Given the description of an element on the screen output the (x, y) to click on. 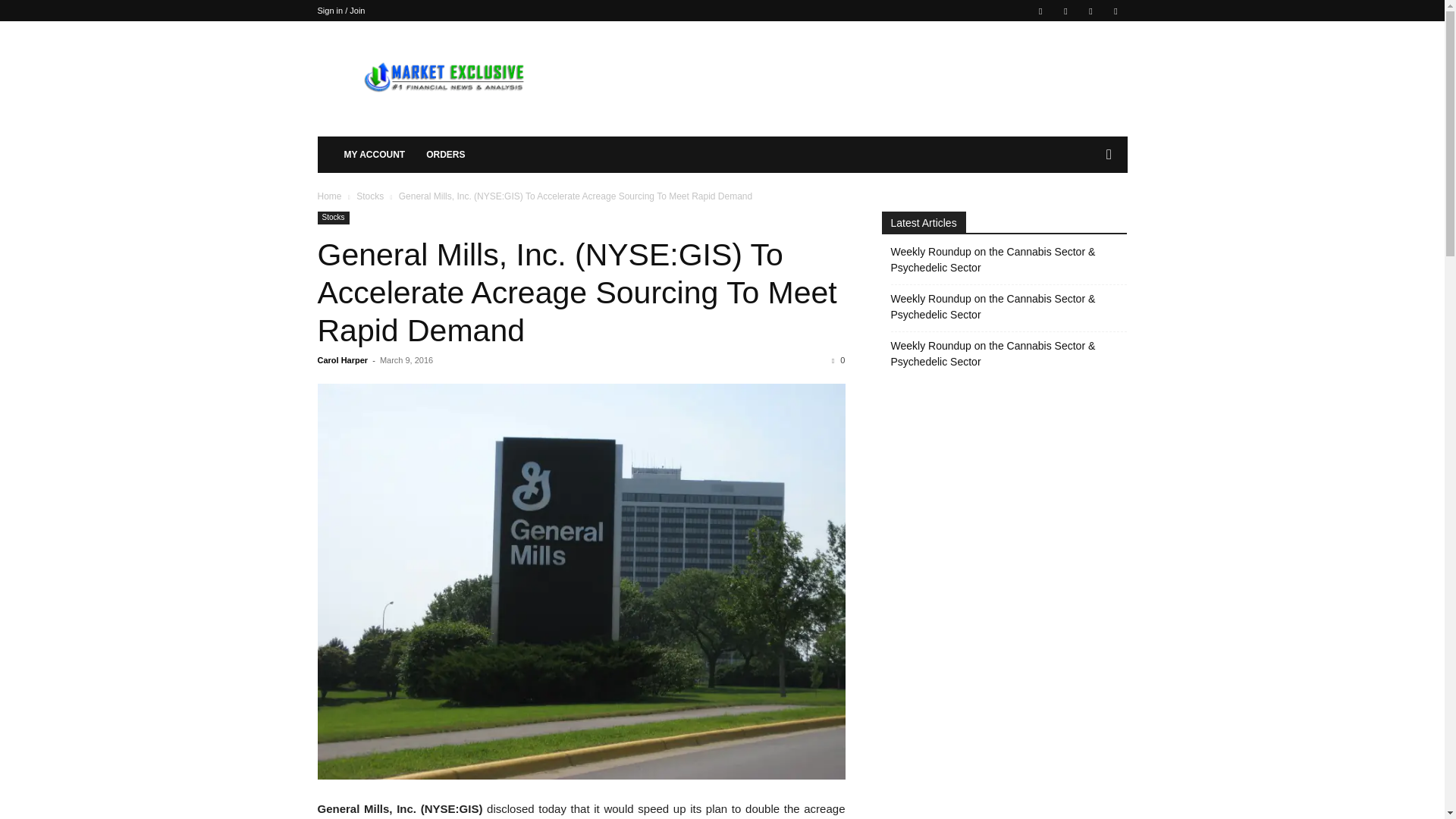
Search (1085, 215)
Stocks (333, 217)
View all posts in Stocks (370, 195)
MY ACCOUNT (374, 154)
Twitter (1114, 10)
0 (837, 359)
Home (328, 195)
Facebook (1040, 10)
Carol Harper (342, 359)
Stocks (370, 195)
